Given the description of an element on the screen output the (x, y) to click on. 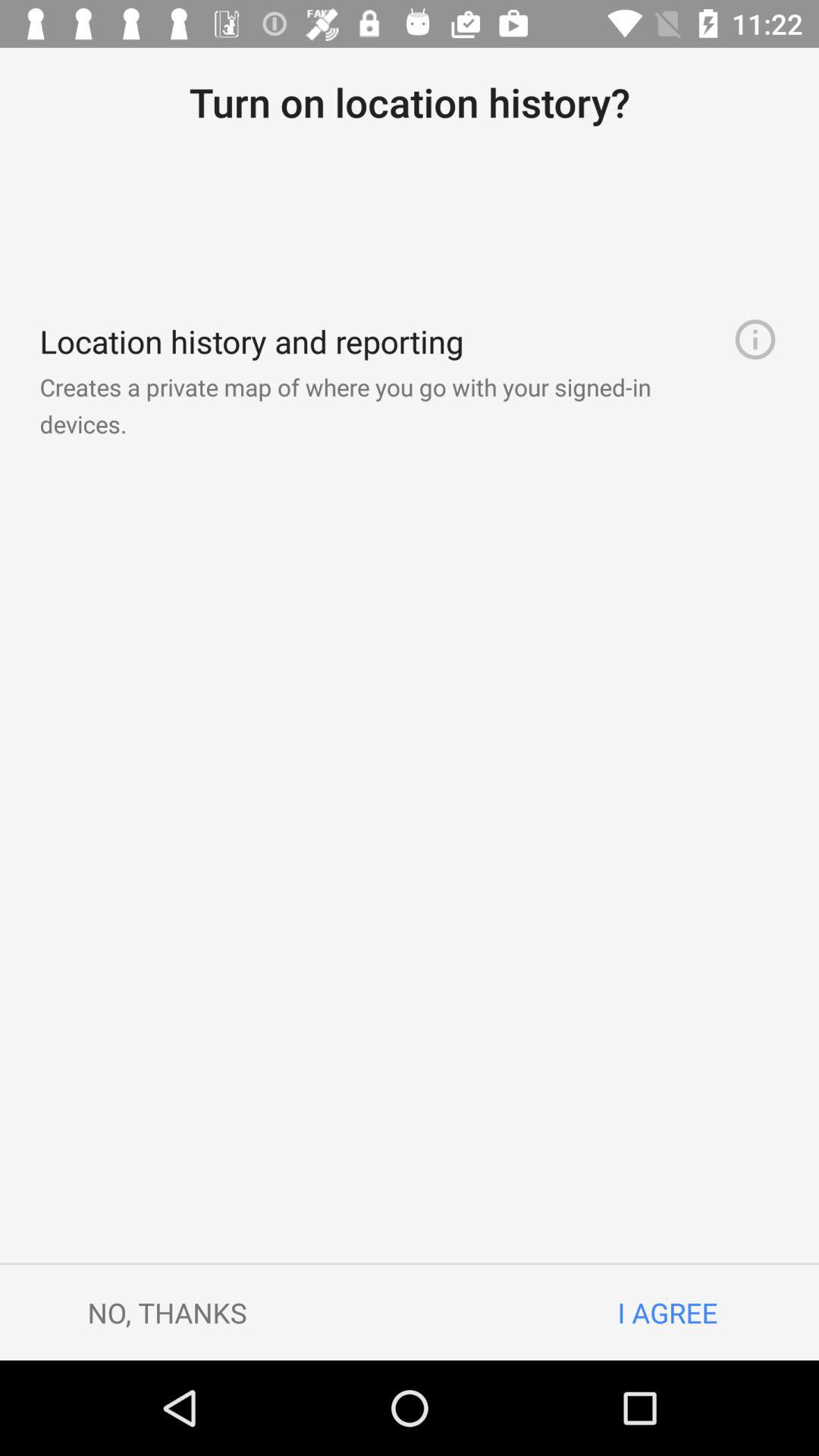
press the icon next to creates a private item (755, 339)
